Given the description of an element on the screen output the (x, y) to click on. 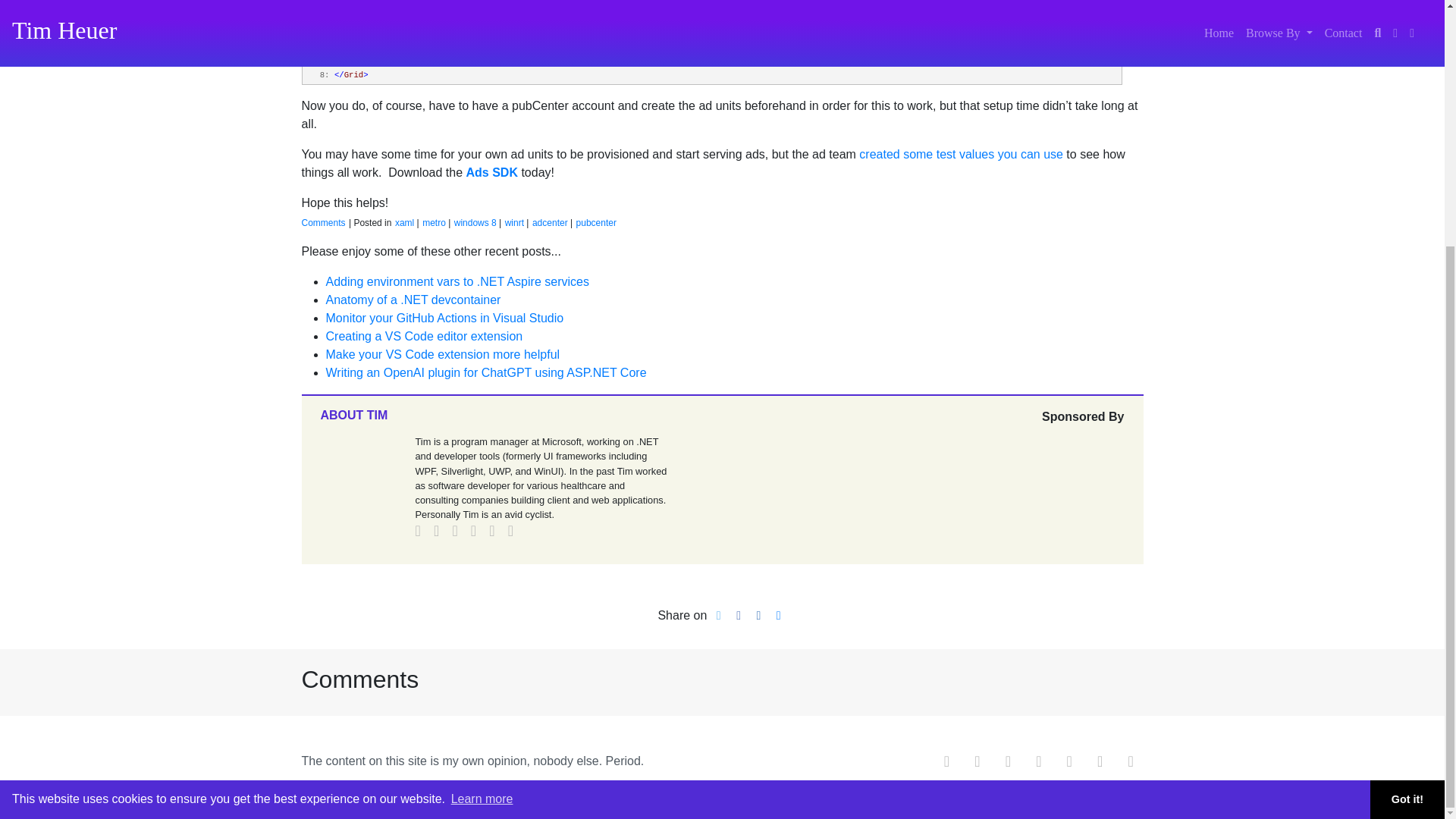
Writing an OpenAI plugin for ChatGPT using ASP.NET Core (486, 372)
Adding environment vars to .NET Aspire services (457, 281)
Comments (323, 222)
Anatomy of a .NET devcontainer (413, 299)
Make your VS Code extension more helpful (443, 354)
metro (433, 222)
created some test values you can use (960, 154)
xaml (403, 222)
Learn more (481, 456)
windows 8 (475, 222)
